Given the description of an element on the screen output the (x, y) to click on. 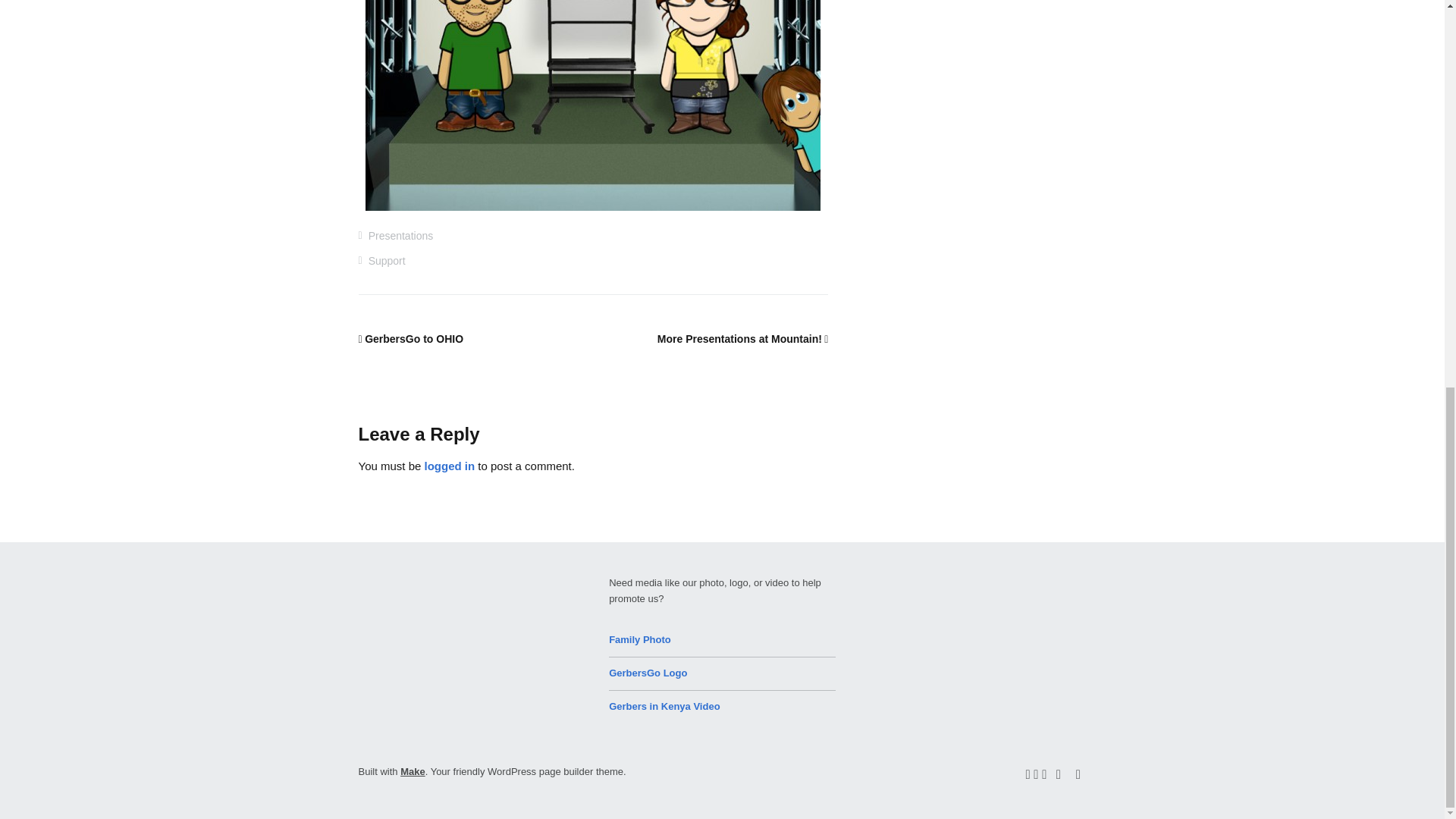
Make (412, 771)
Gerbers in Kenya Video (663, 706)
More Presentations at Mountain! (743, 338)
logged in (450, 465)
GerbersGo to OHIO (410, 338)
Support (387, 260)
GerbersGo Logo (647, 672)
Family Photo (639, 639)
Presentations (400, 235)
